Given the description of an element on the screen output the (x, y) to click on. 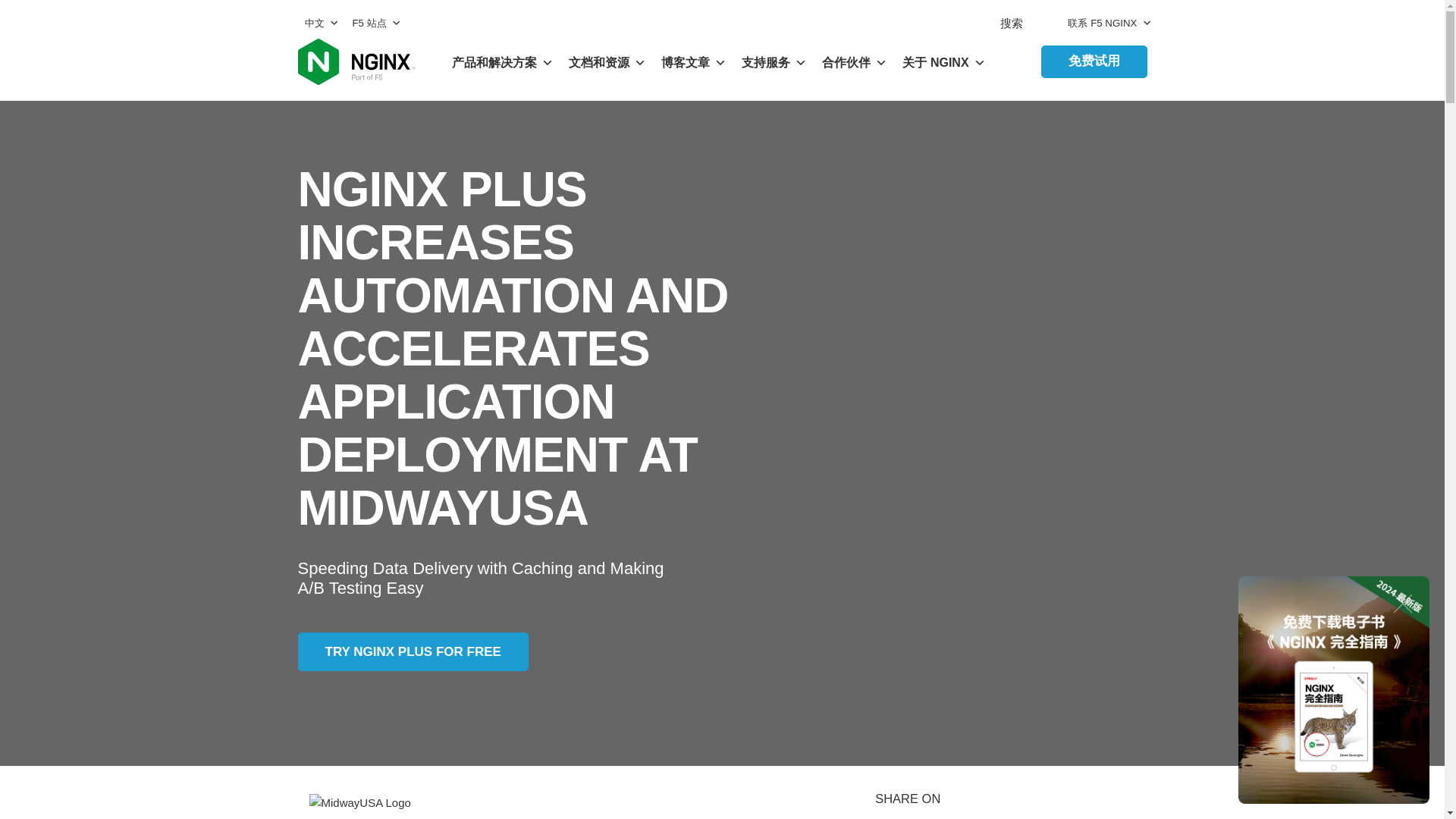
Search (24, 9)
